Given the description of an element on the screen output the (x, y) to click on. 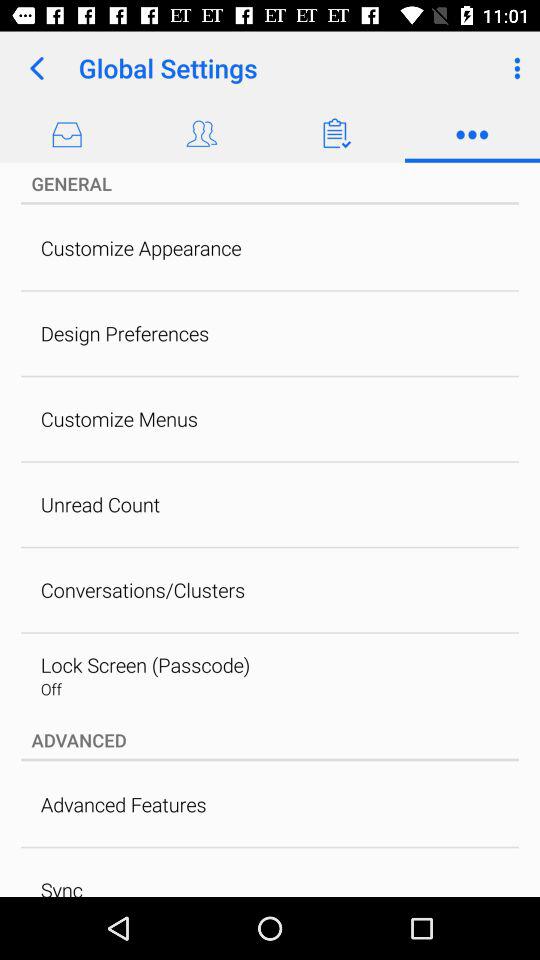
turn on customize menus app (119, 418)
